Given the description of an element on the screen output the (x, y) to click on. 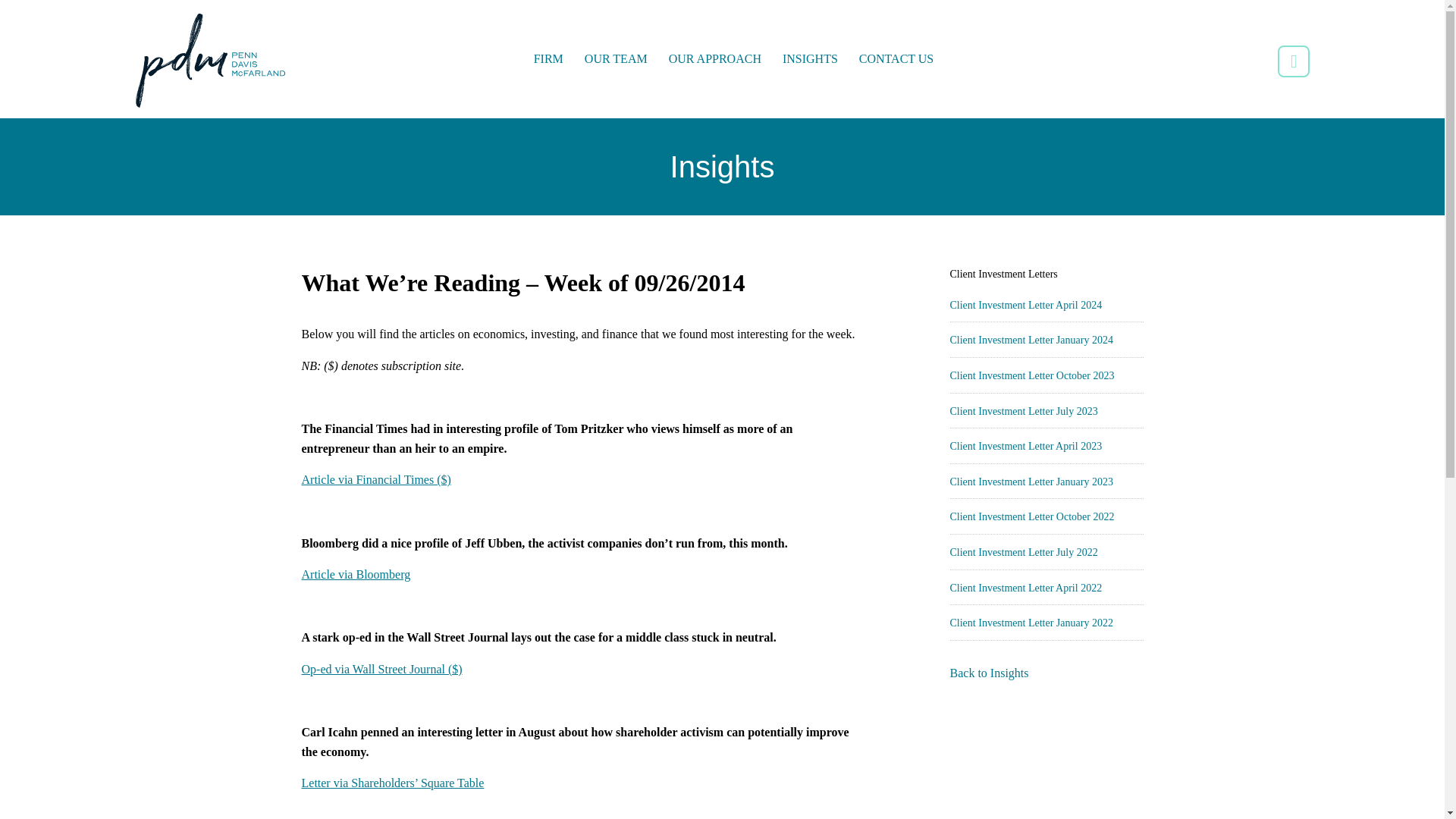
INSIGHTS (810, 58)
Client Investment Letter July 2022 (1023, 552)
OUR TEAM (616, 58)
Client Investment Letter January 2024 (1030, 339)
Client Investment Letter July 2023 (1023, 410)
CONTACT US (896, 58)
Client Investment Letter October 2022 (1031, 516)
Client Investment Letter January 2022 (1030, 622)
Client Investment Letter April 2024 (1025, 305)
OUR APPROACH (714, 58)
Article via Bloomberg (355, 574)
Client Investment Letter October 2023 (1031, 375)
Client Investment Letter January 2023 (1030, 481)
Client Investment Letter April 2023 (1025, 446)
Client Investment Letter April 2022 (1025, 587)
